Given the description of an element on the screen output the (x, y) to click on. 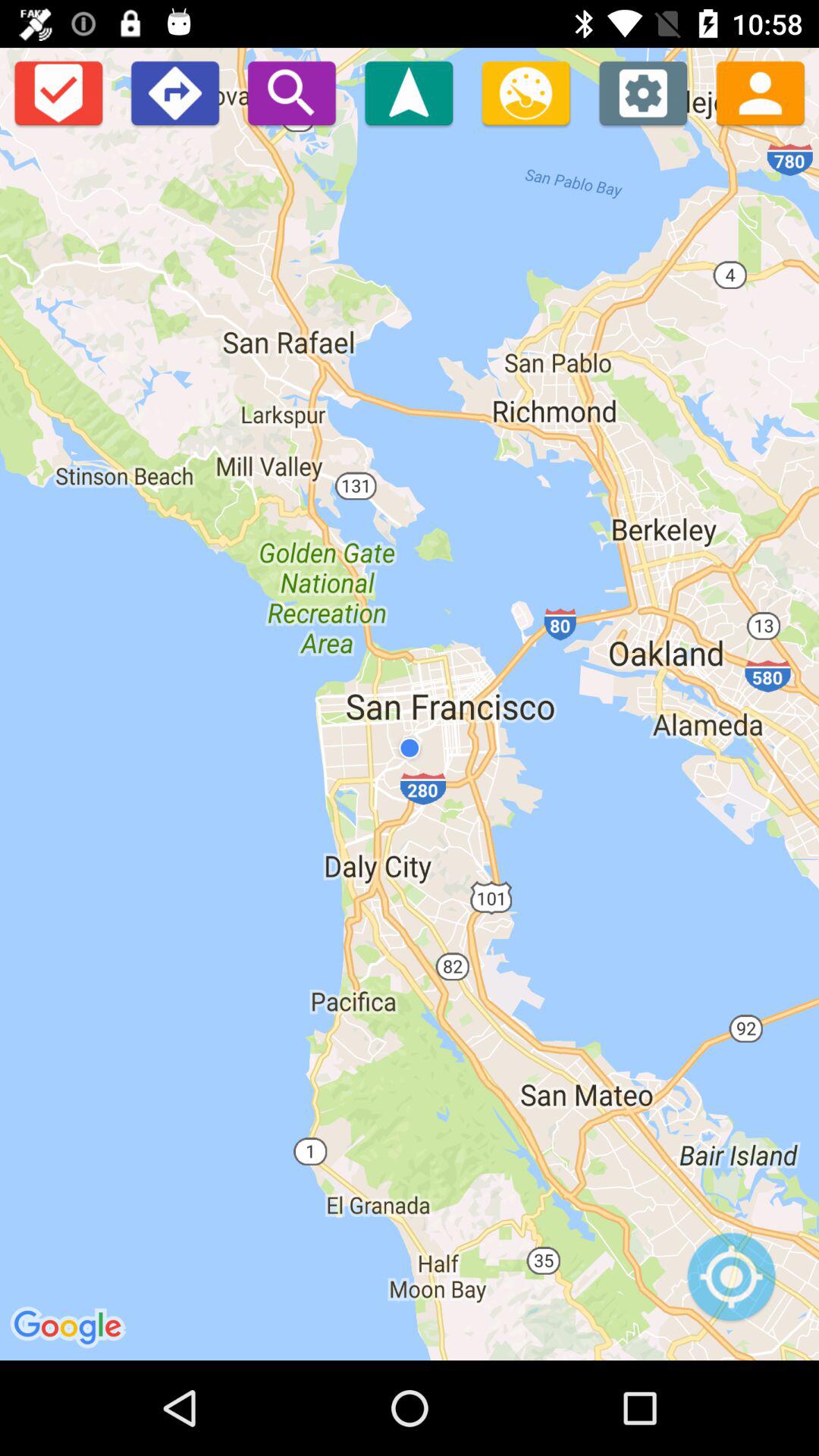
see location (731, 1284)
